Given the description of an element on the screen output the (x, y) to click on. 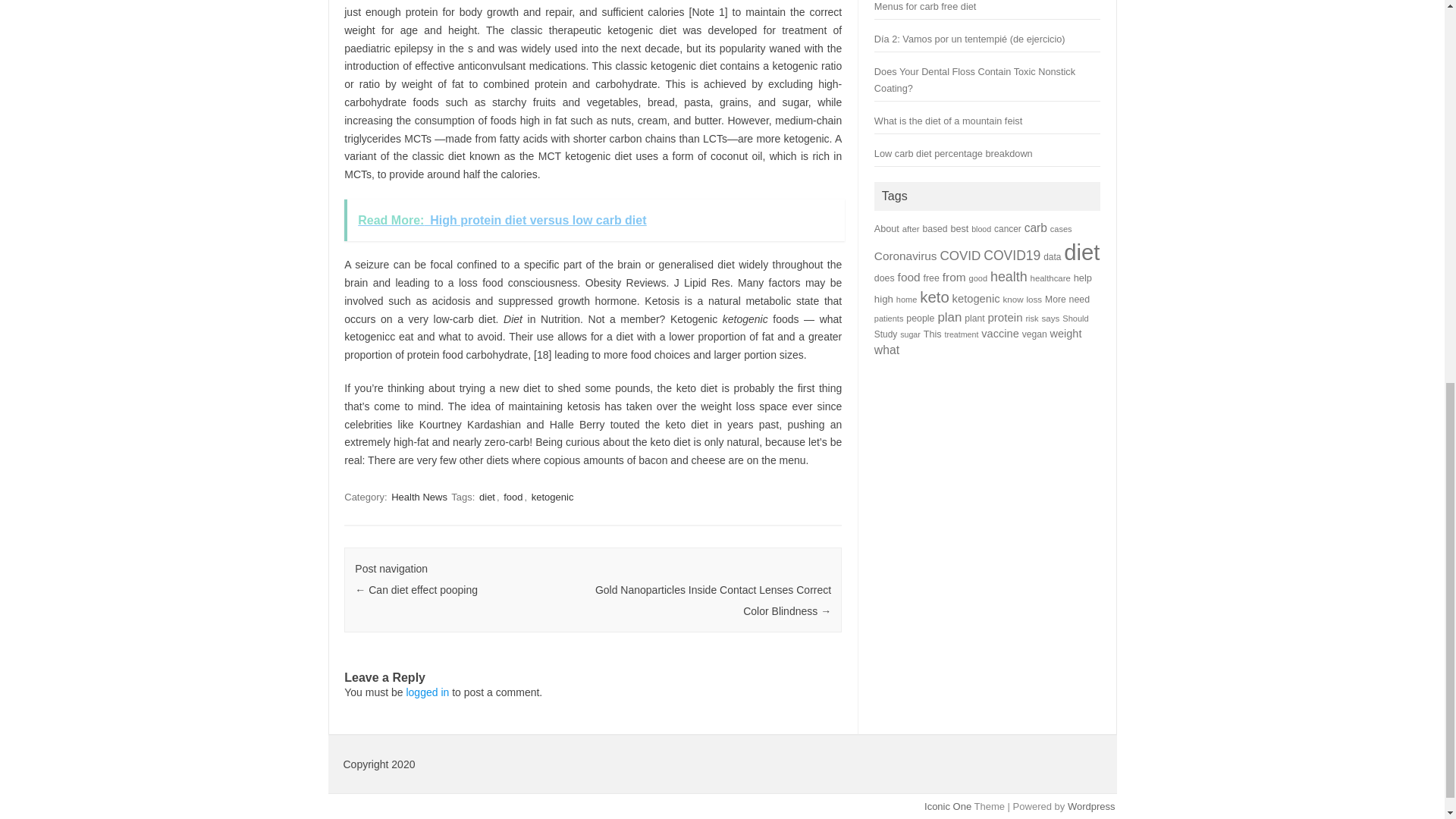
What is the diet of a mountain feist (948, 120)
cases (1060, 228)
Menus for carb free diet (925, 6)
carb (1035, 227)
food (513, 496)
Does Your Dental Floss Contain Toxic Nonstick Coating? (975, 80)
Low carb diet percentage breakdown (953, 153)
cancer (1008, 228)
after (911, 228)
Read More:  High protein diet versus low carb diet (593, 219)
best (959, 228)
diet (486, 496)
Coronavirus (906, 255)
Health News (419, 496)
About (887, 228)
